Given the description of an element on the screen output the (x, y) to click on. 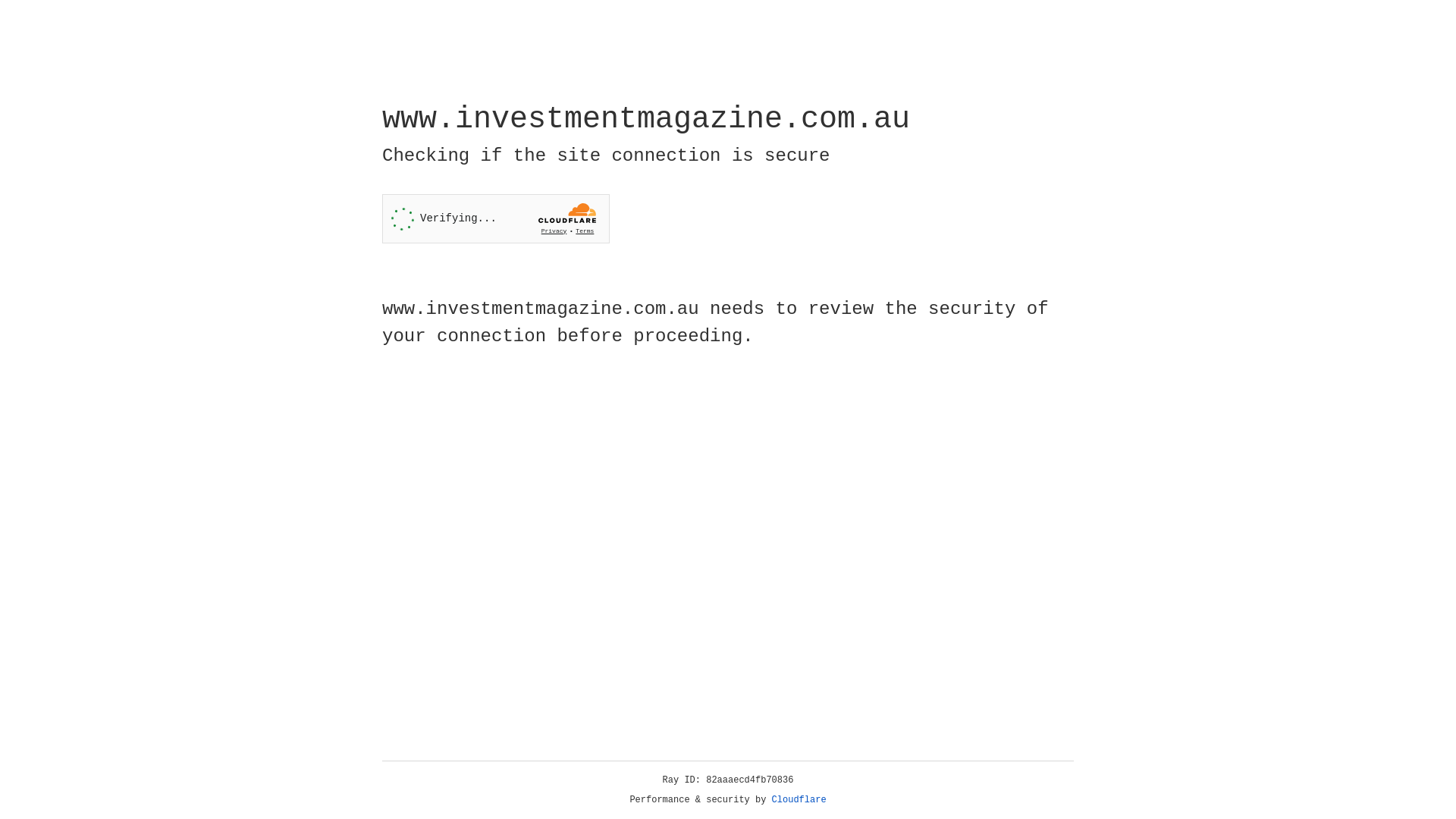
Cloudflare Element type: text (798, 799)
Widget containing a Cloudflare security challenge Element type: hover (495, 218)
